Given the description of an element on the screen output the (x, y) to click on. 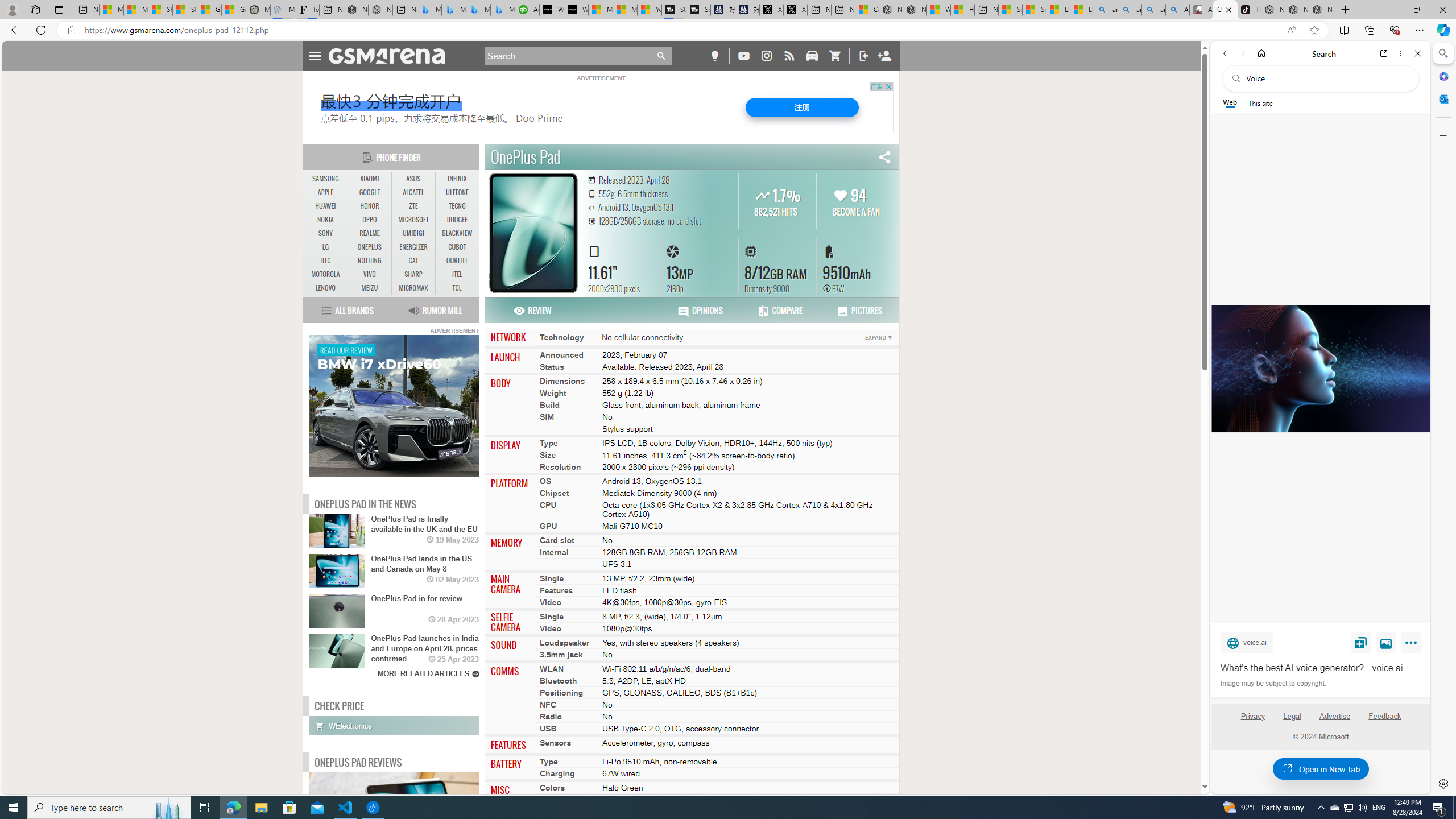
OnePlus Pad MORE PICTURES (531, 233)
Dimensions (562, 380)
voice.ai (1247, 642)
Weight (553, 392)
BLACKVIEW (457, 233)
OS (545, 481)
APPLE (325, 192)
DOOGEE (457, 219)
BLACKVIEW (457, 233)
Privacy (1252, 715)
What's the best AI voice generator? - voice.ai (1320, 368)
APPLE (325, 192)
Single (552, 616)
